Given the description of an element on the screen output the (x, y) to click on. 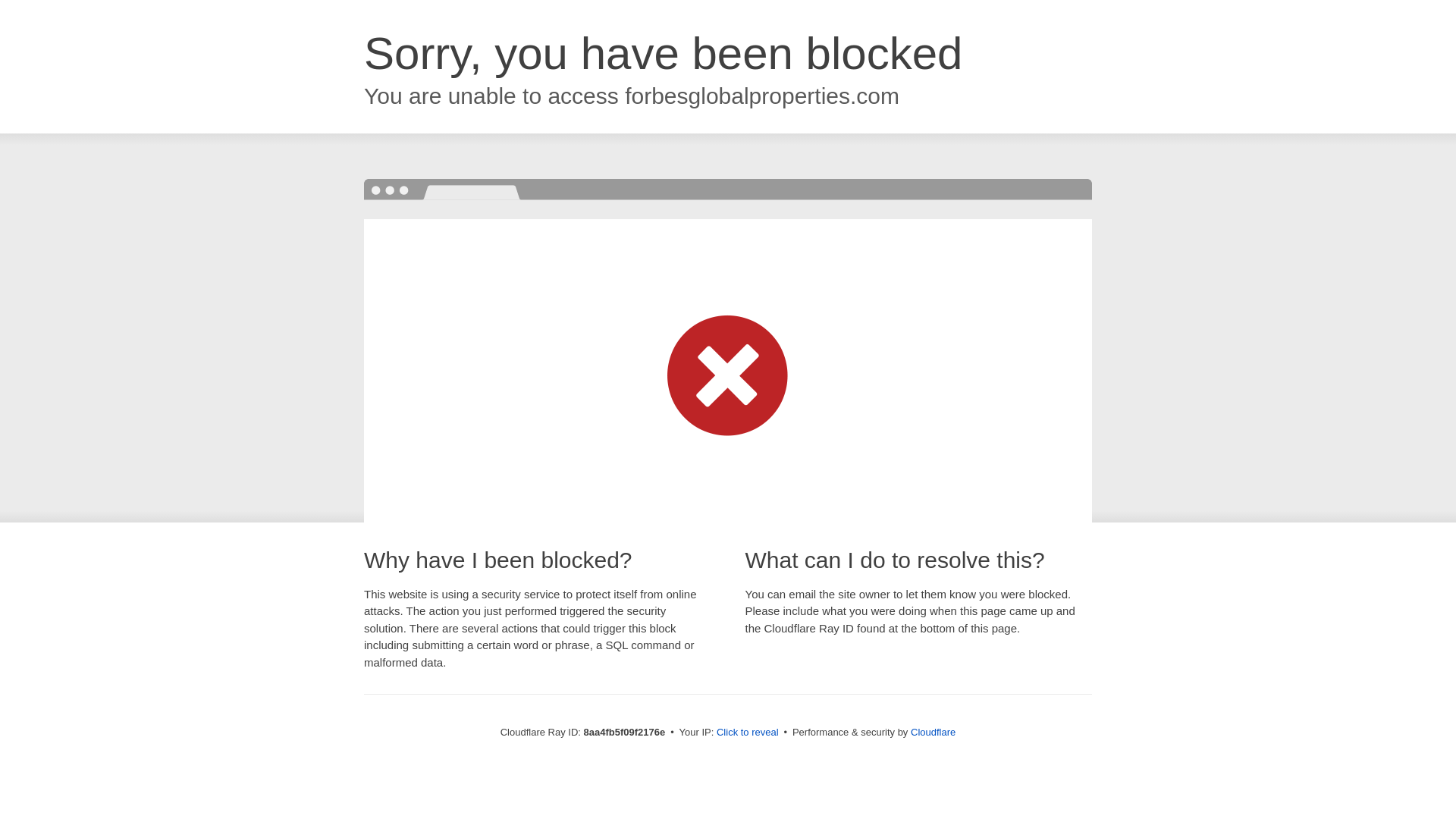
Click to reveal (747, 732)
Cloudflare (933, 731)
